Given the description of an element on the screen output the (x, y) to click on. 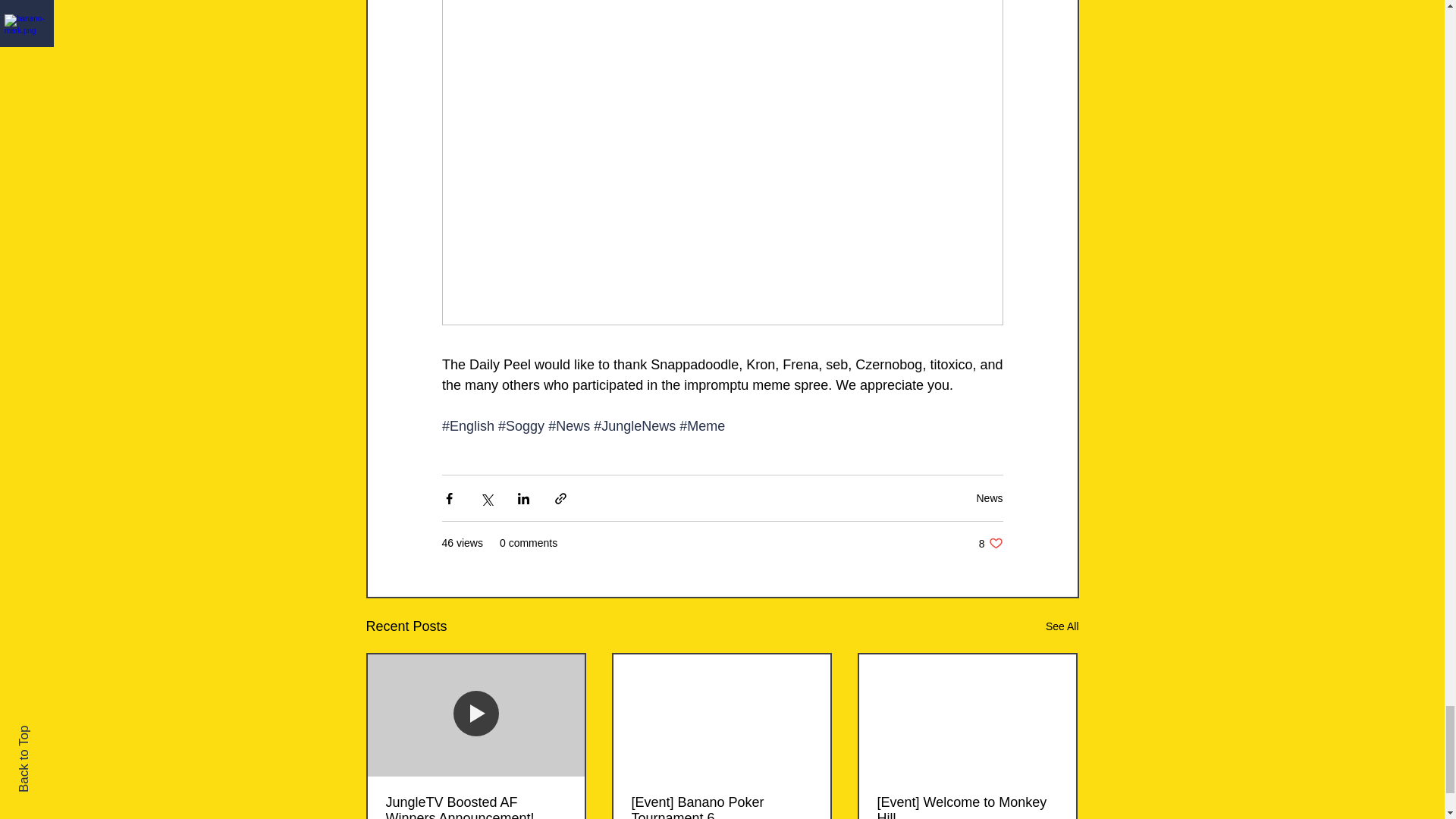
JungleTV Boosted AF Winners Announcement! (475, 806)
News (989, 498)
See All (1061, 626)
